Given the description of an element on the screen output the (x, y) to click on. 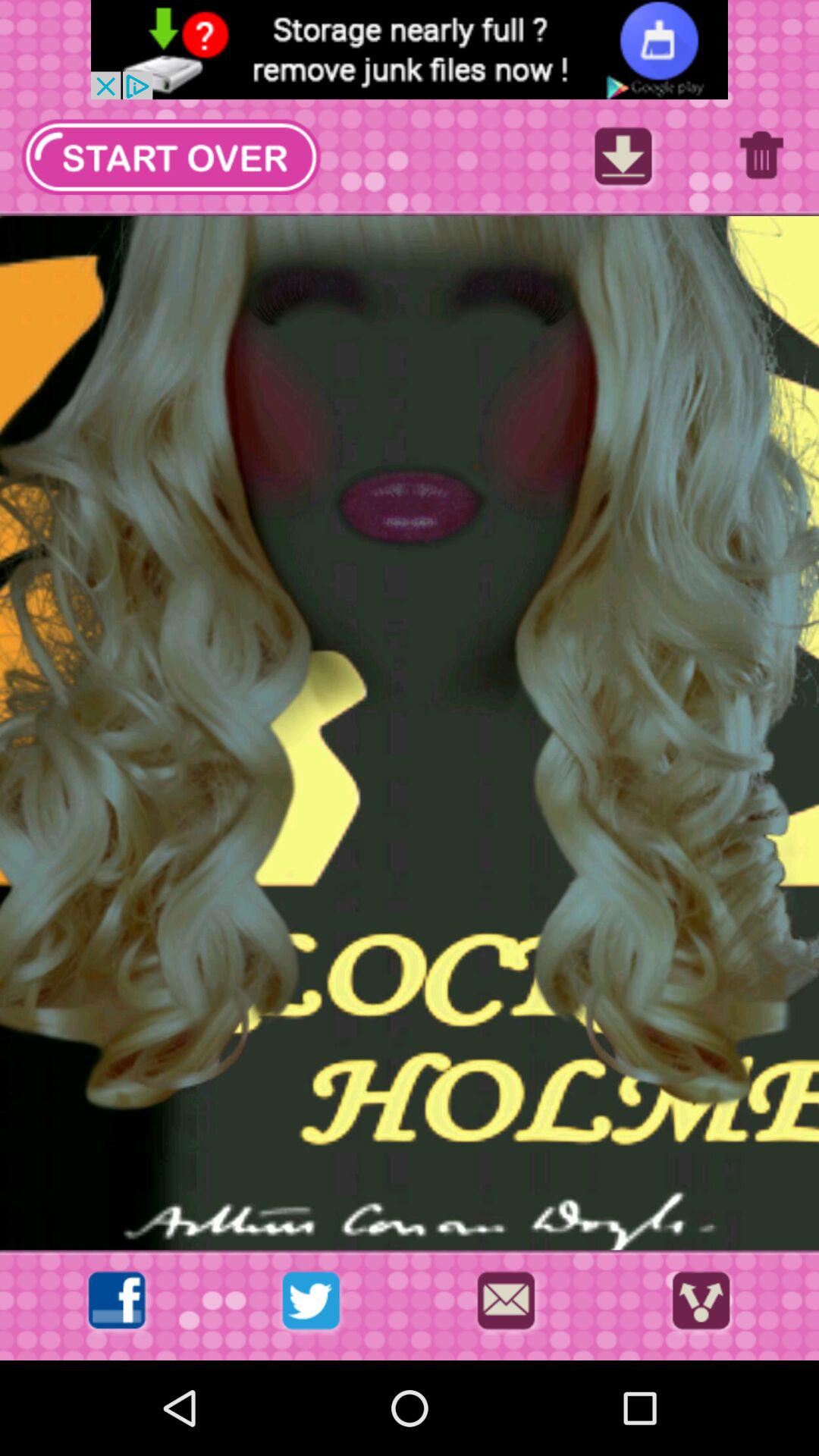
go to facebook page (116, 1305)
